Given the description of an element on the screen output the (x, y) to click on. 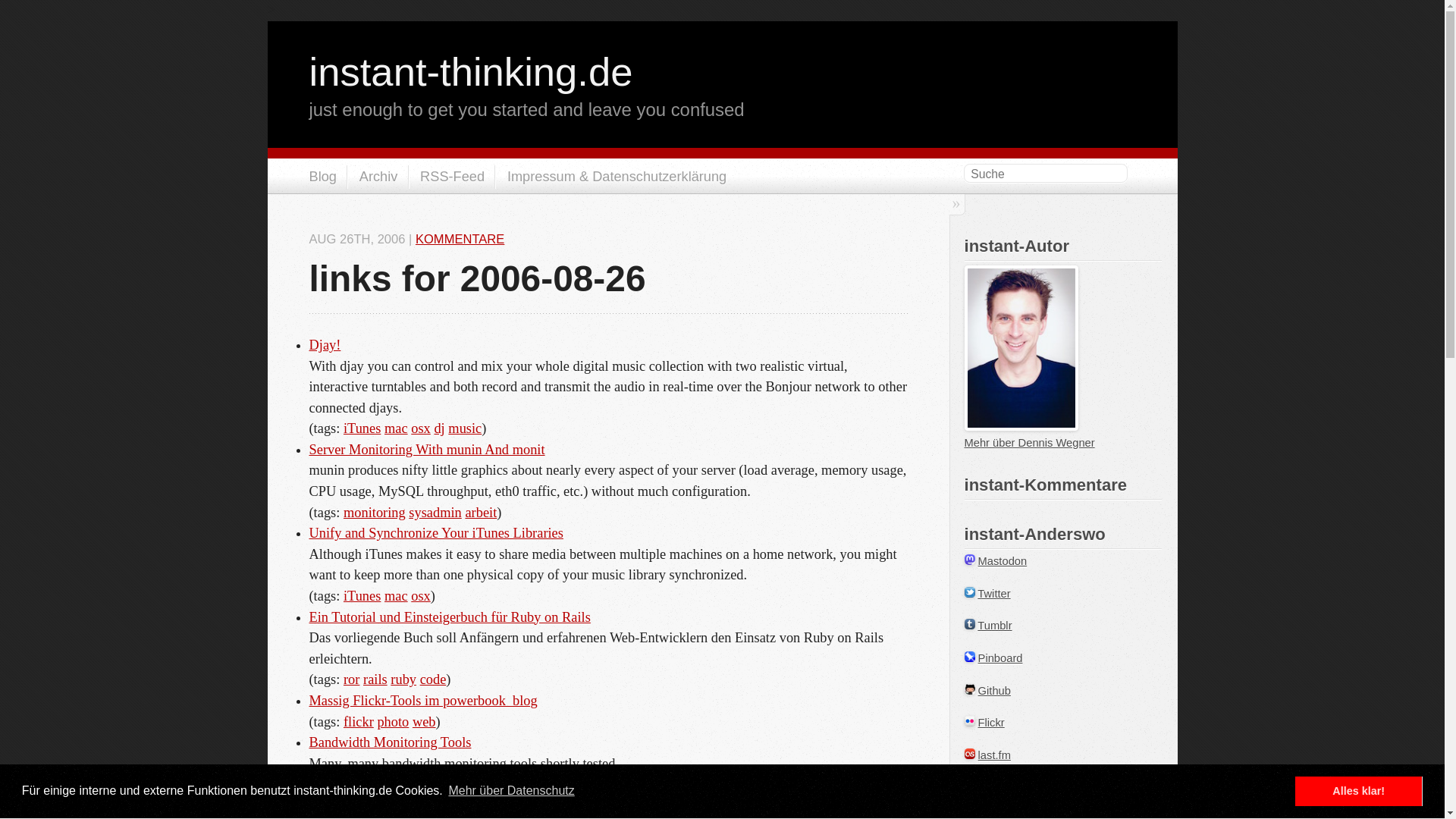
monitoring (374, 783)
subscribe via RSS (446, 177)
code (433, 679)
iTunes (361, 595)
mac (395, 595)
Blog (322, 177)
Bandwidth Monitoring Tools (389, 742)
sysadmin (435, 783)
Home (470, 71)
Unify and Synchronize Your iTunes Libraries (435, 532)
arbeit (480, 512)
flickr (358, 721)
instant-thinking.de (470, 71)
mac (395, 427)
ror (351, 679)
